Given the description of an element on the screen output the (x, y) to click on. 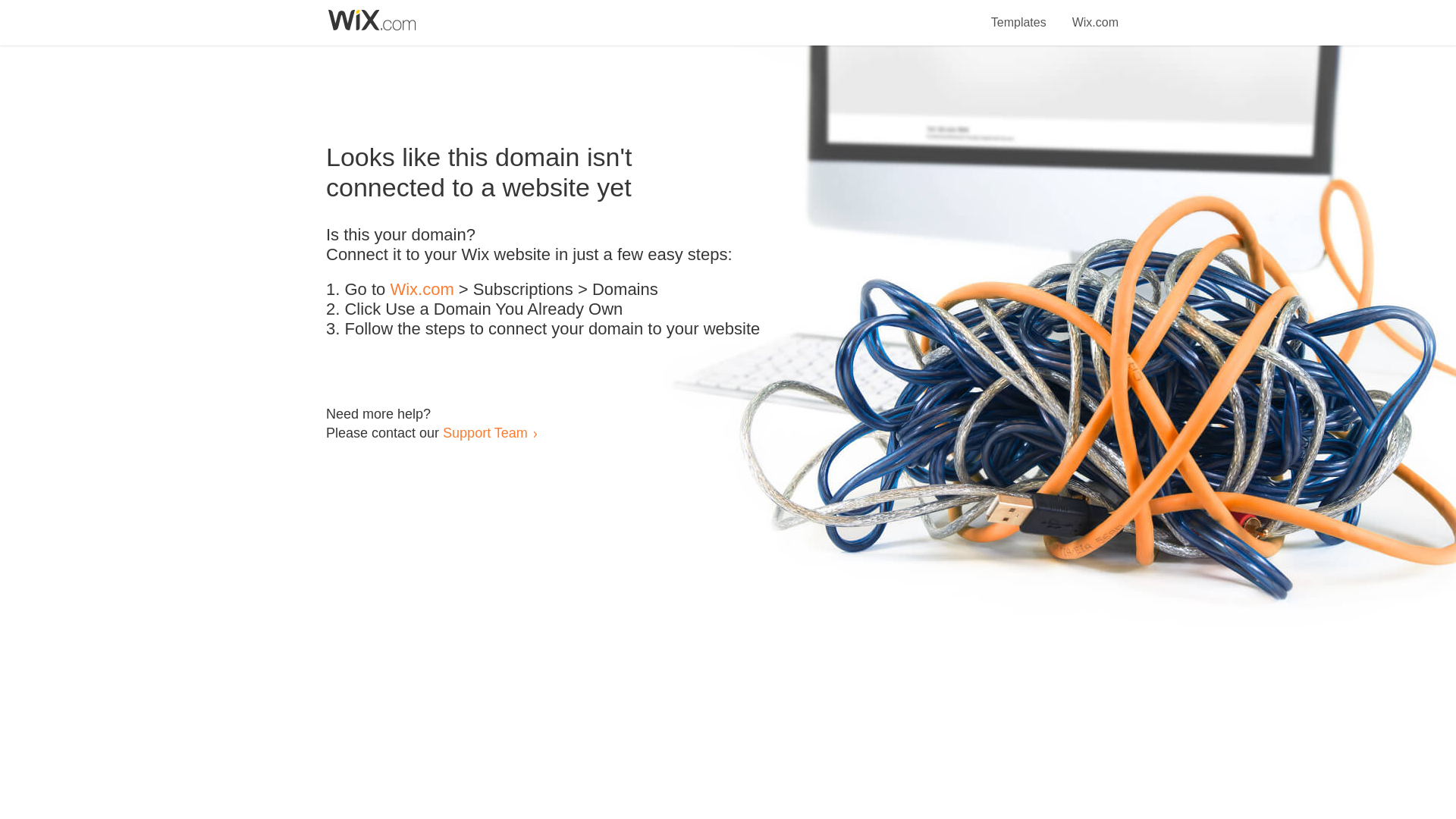
Wix.com (1095, 14)
Wix.com (421, 289)
Support Team (484, 432)
Templates (1018, 14)
